Given the description of an element on the screen output the (x, y) to click on. 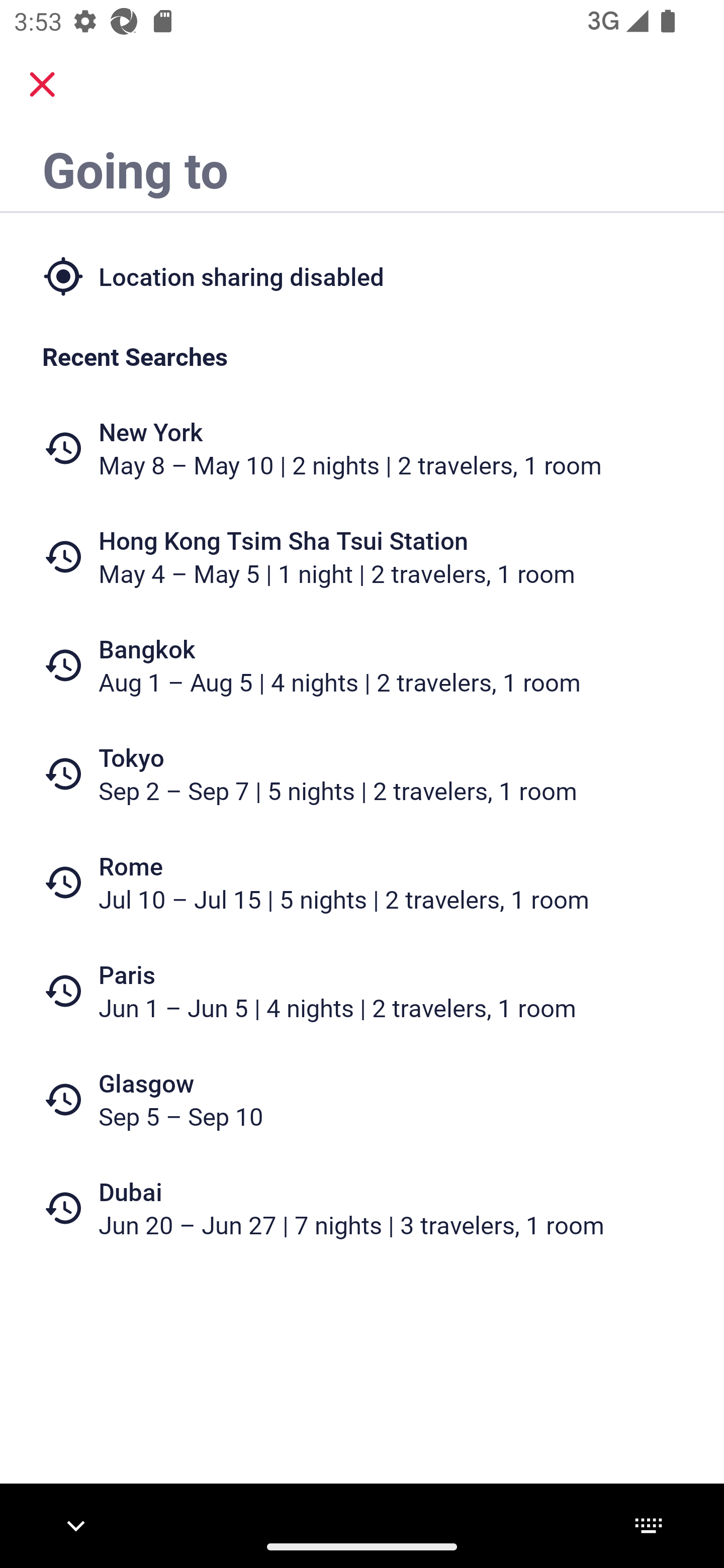
close. (42, 84)
Location sharing disabled (362, 275)
Glasgow Sep 5 – Sep 10 (362, 1099)
